Given the description of an element on the screen output the (x, y) to click on. 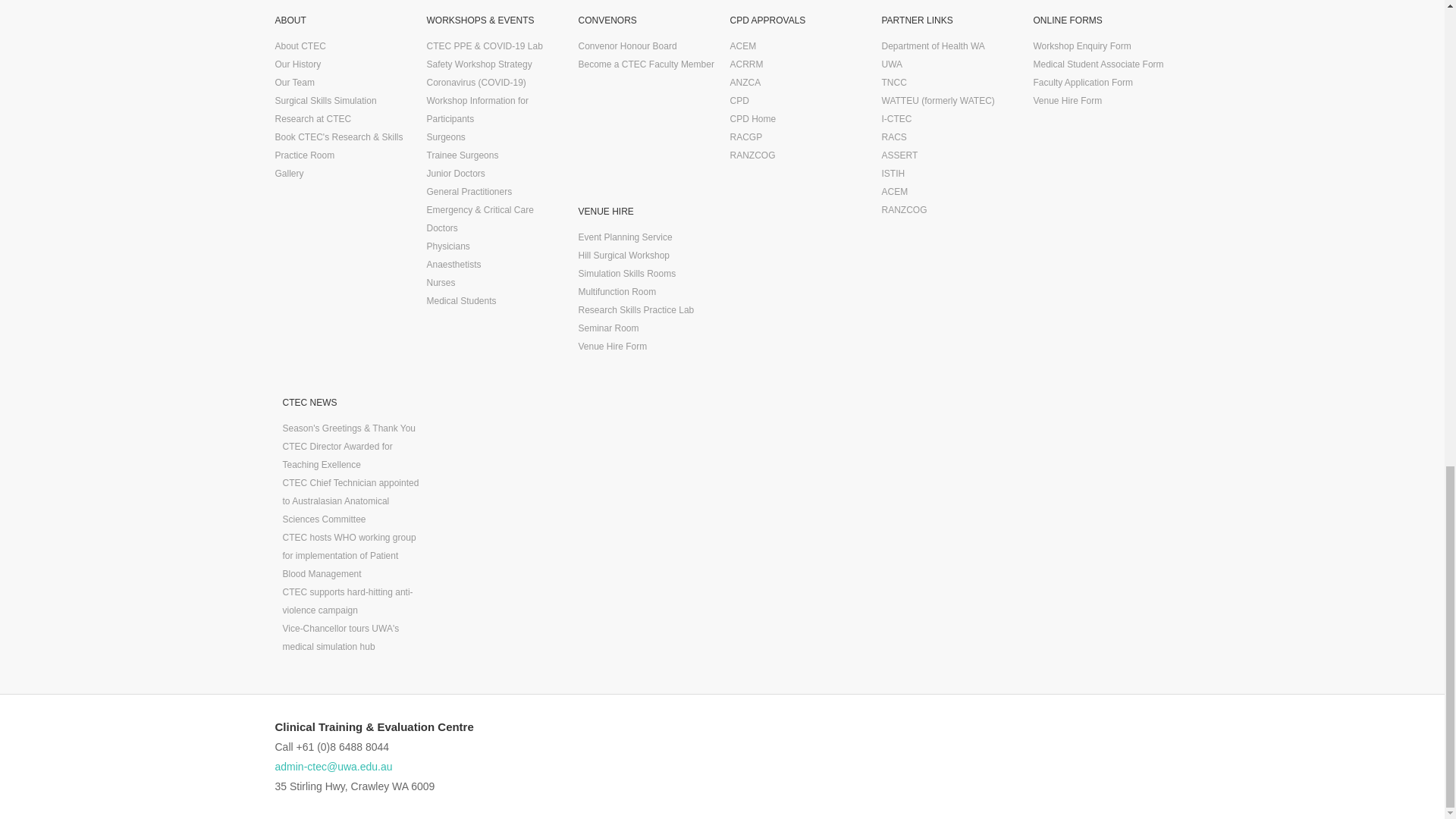
Find out which famous Royal officially opened CTEC (297, 63)
